Given the description of an element on the screen output the (x, y) to click on. 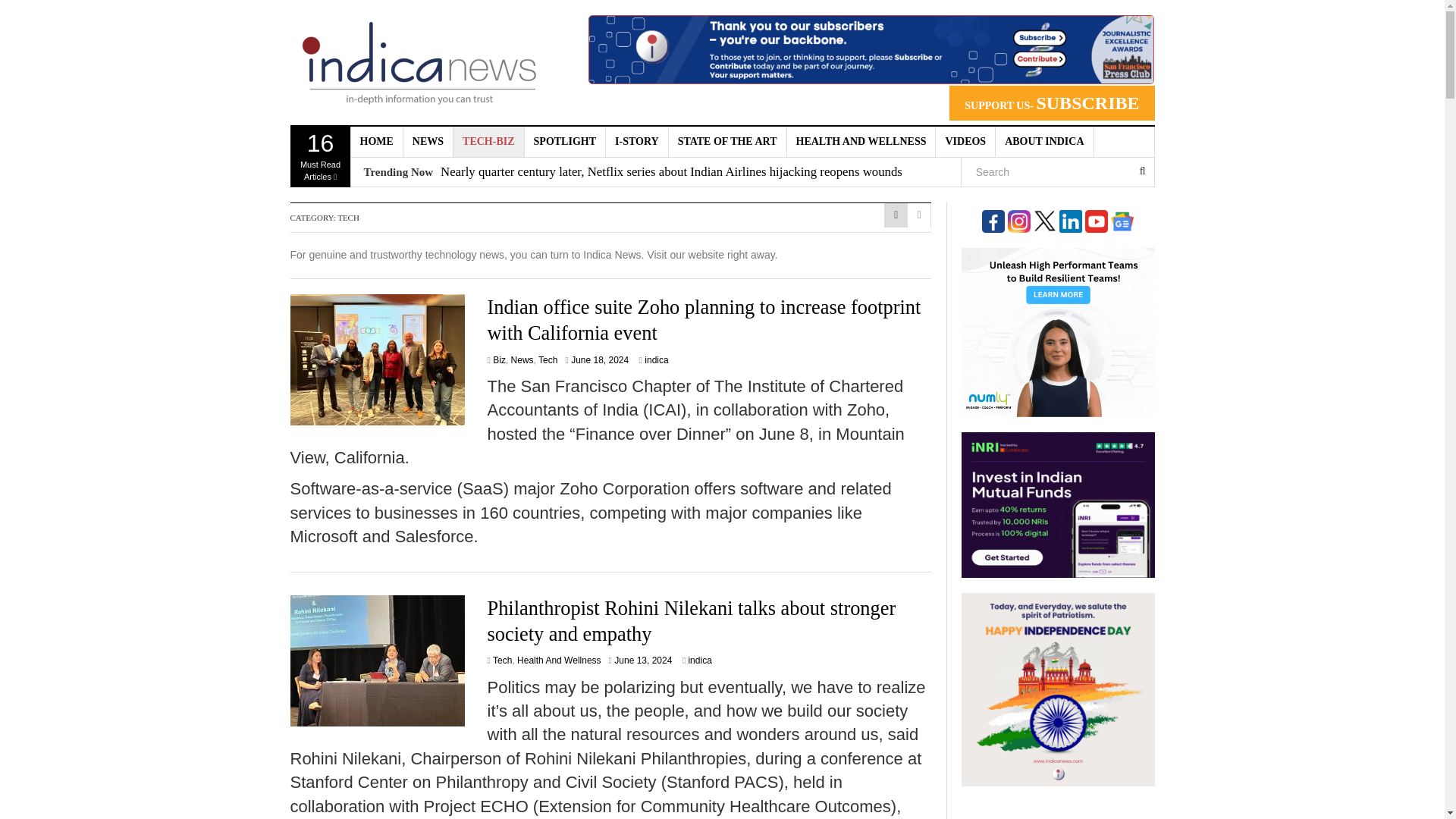
NEWS (427, 141)
News (522, 359)
HOME (376, 141)
TECH-BIZ (488, 141)
I-STORY (636, 141)
Biz (499, 359)
indica News (418, 62)
SUPPORT US- SUBSCRIBE (1051, 102)
